Given the description of an element on the screen output the (x, y) to click on. 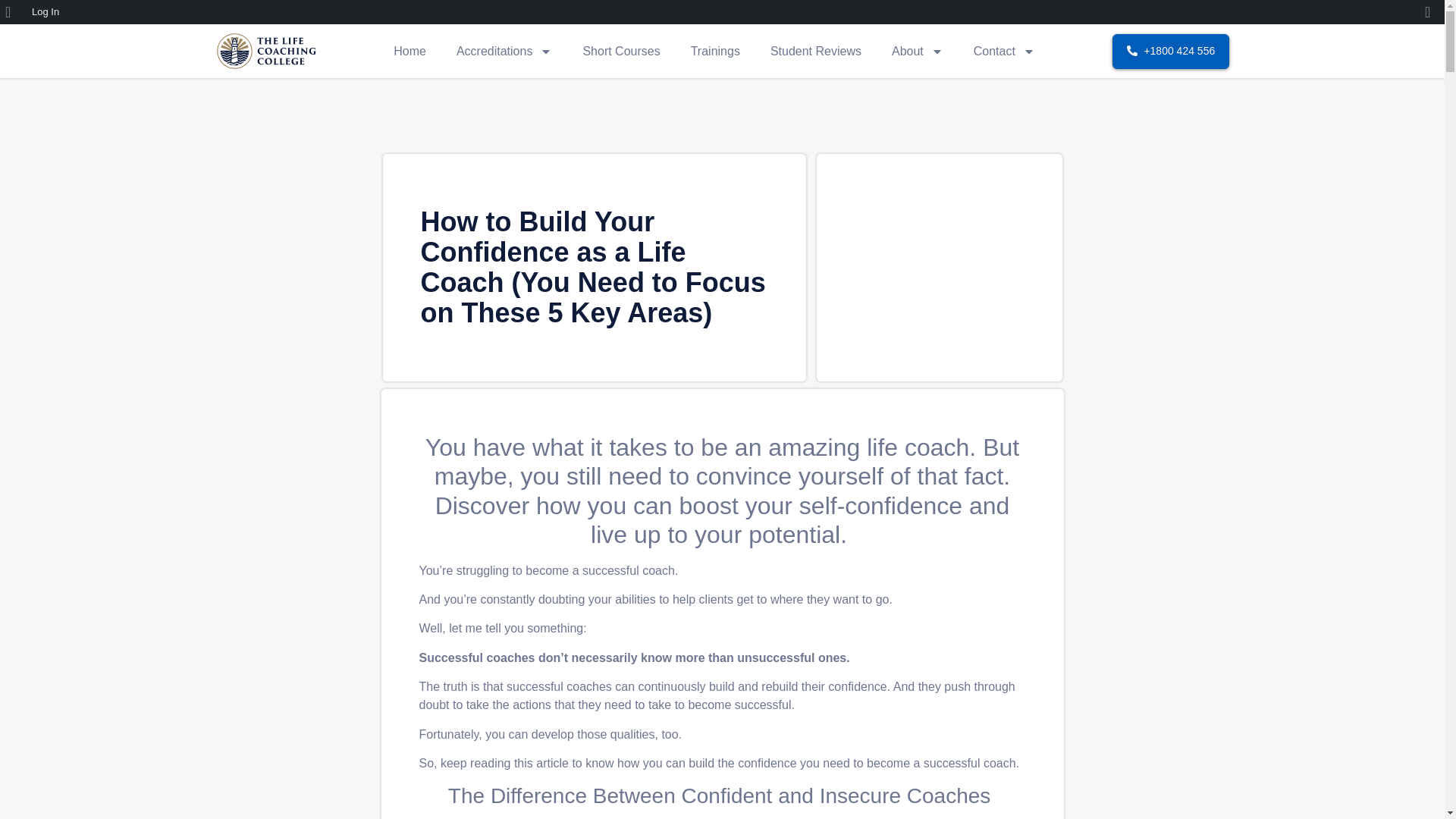
Trainings (715, 50)
Home (409, 50)
About (917, 50)
Log In (45, 12)
Accreditations (504, 50)
Short Courses (621, 50)
Contact (1003, 50)
Search (16, 12)
Student Reviews (815, 50)
